Given the description of an element on the screen output the (x, y) to click on. 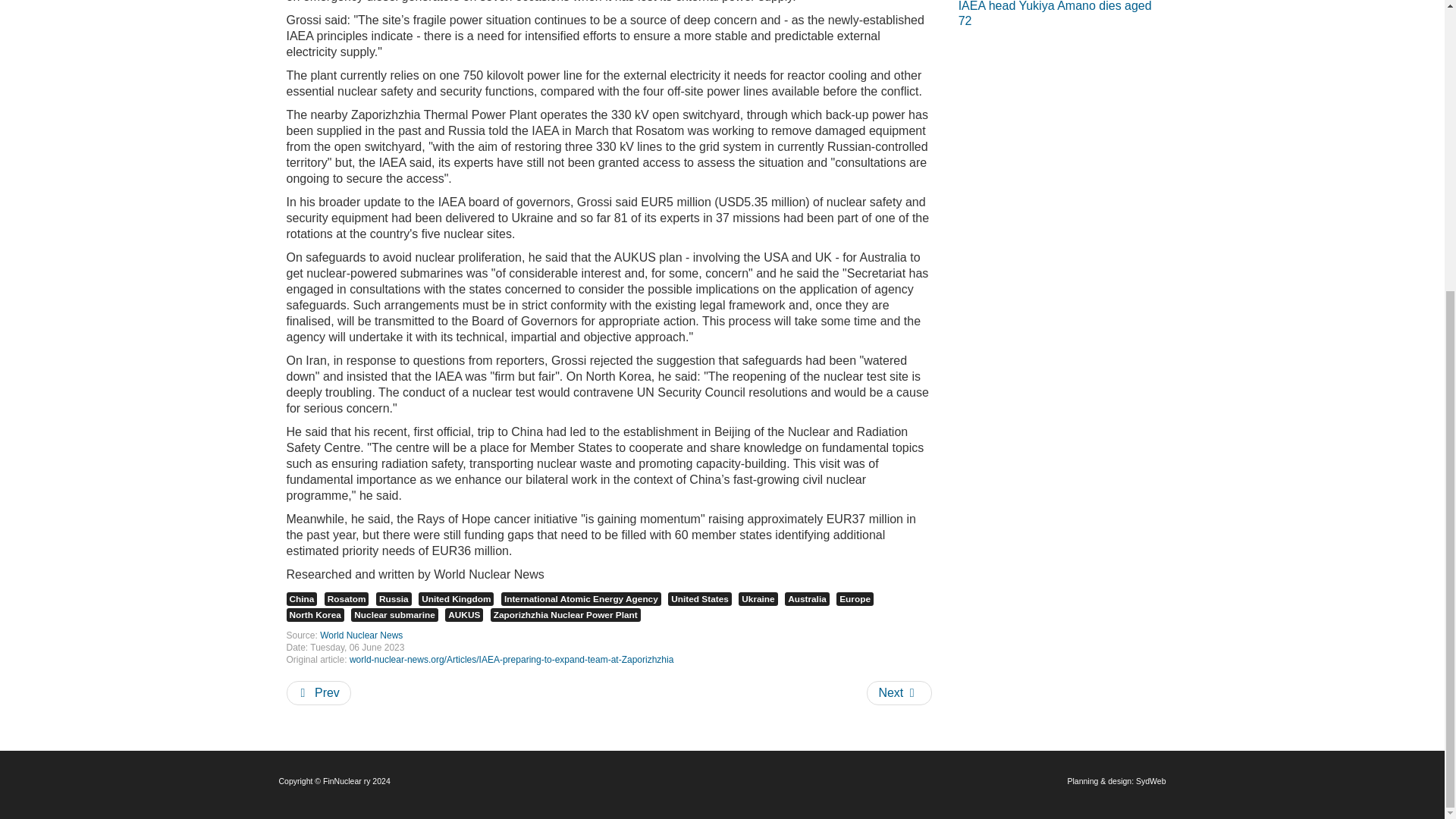
Australia (806, 599)
Next (898, 692)
International Atomic Energy Agency (580, 599)
Zaporizhzhia Nuclear Power Plant (565, 614)
Rosatom (346, 599)
Ukraine (757, 599)
SydWeb (1150, 780)
China (301, 599)
World Nuclear News (361, 634)
Russia (393, 599)
IAEA head Yukiya Amano dies aged 72 (1062, 15)
North Korea (314, 614)
AUKUS (464, 614)
Nuclear submarine (394, 614)
United States (700, 599)
